Given the description of an element on the screen output the (x, y) to click on. 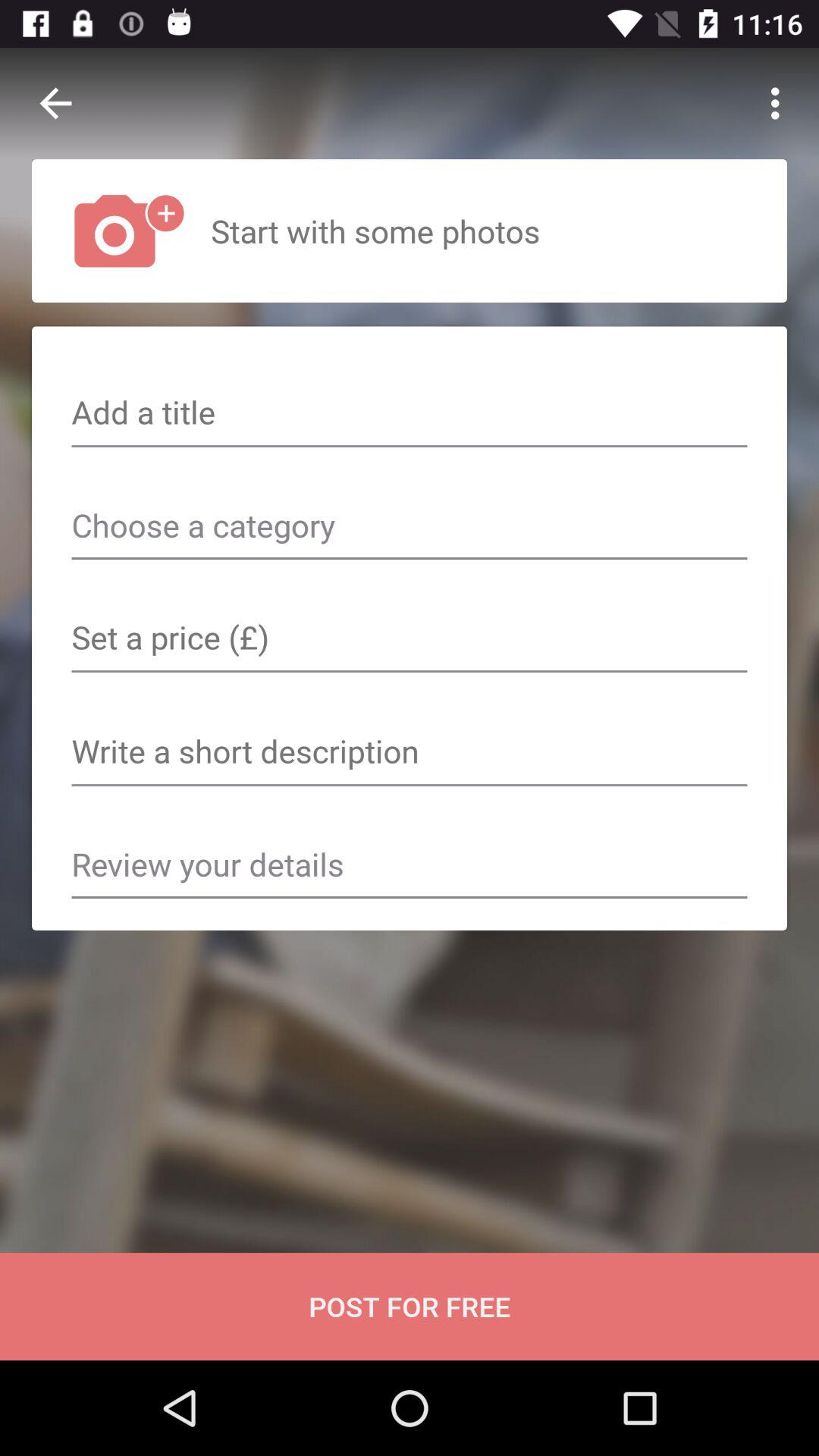
choose item above start with some item (779, 103)
